Given the description of an element on the screen output the (x, y) to click on. 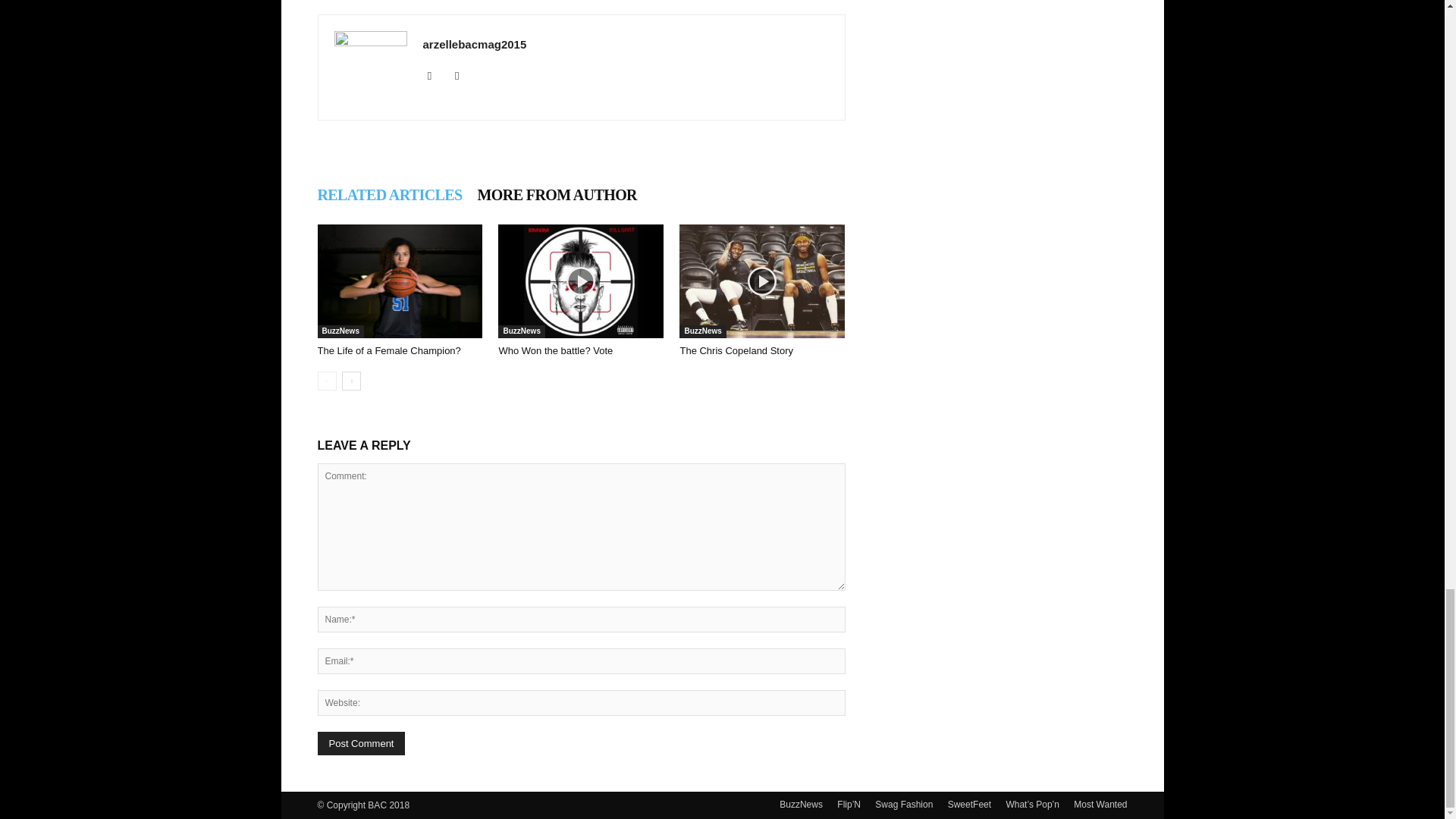
Flickr (435, 75)
Instagram (462, 75)
Who Won the battle? Vote (554, 350)
The Chris Copeland Story (761, 281)
The Life of a Female Champion? (388, 350)
Who Won the battle? Vote (580, 281)
The Life of a Female Champion? (399, 281)
Post Comment (360, 743)
